Given the description of an element on the screen output the (x, y) to click on. 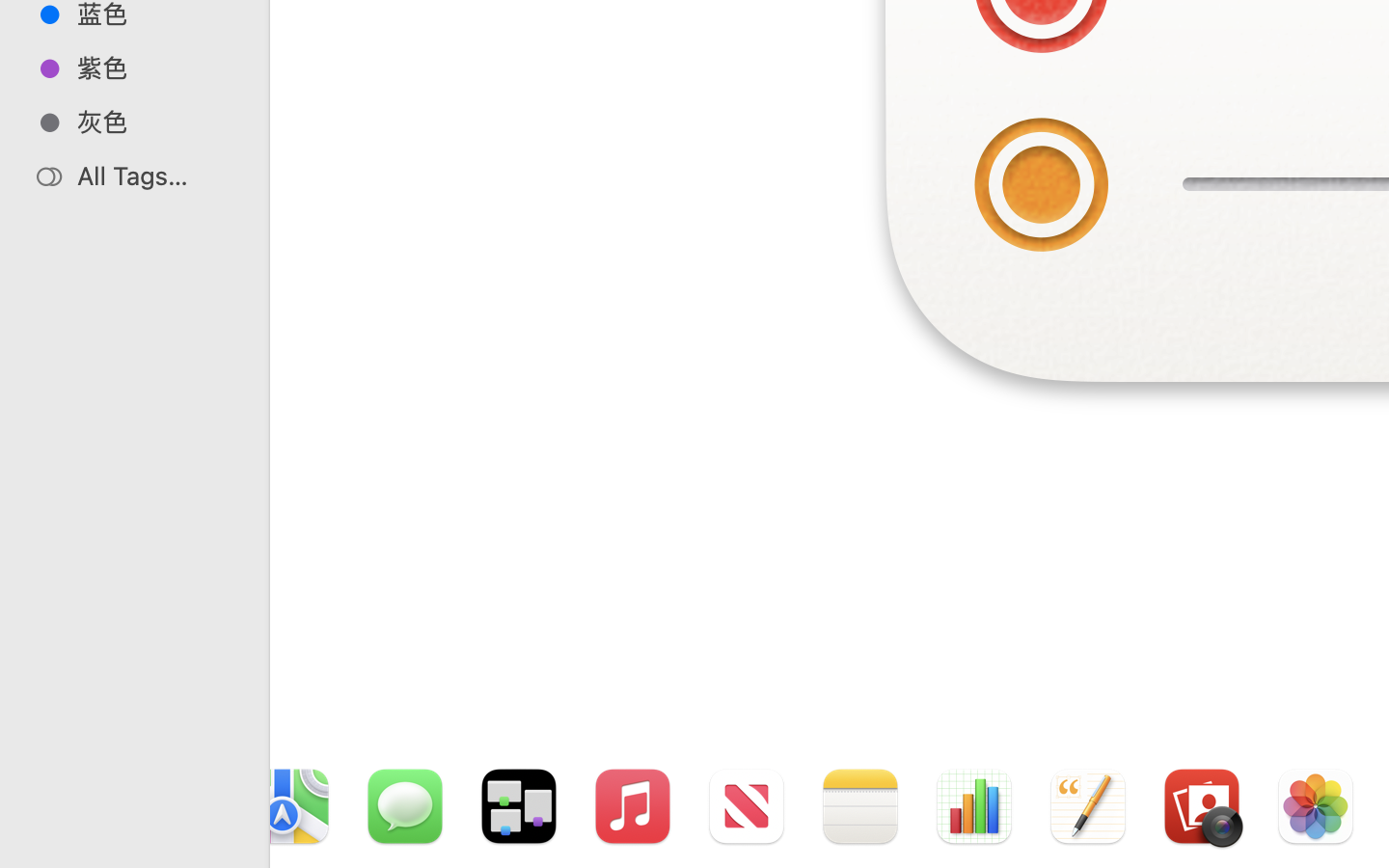
灰色 Element type: AXStaticText (155, 121)
